Given the description of an element on the screen output the (x, y) to click on. 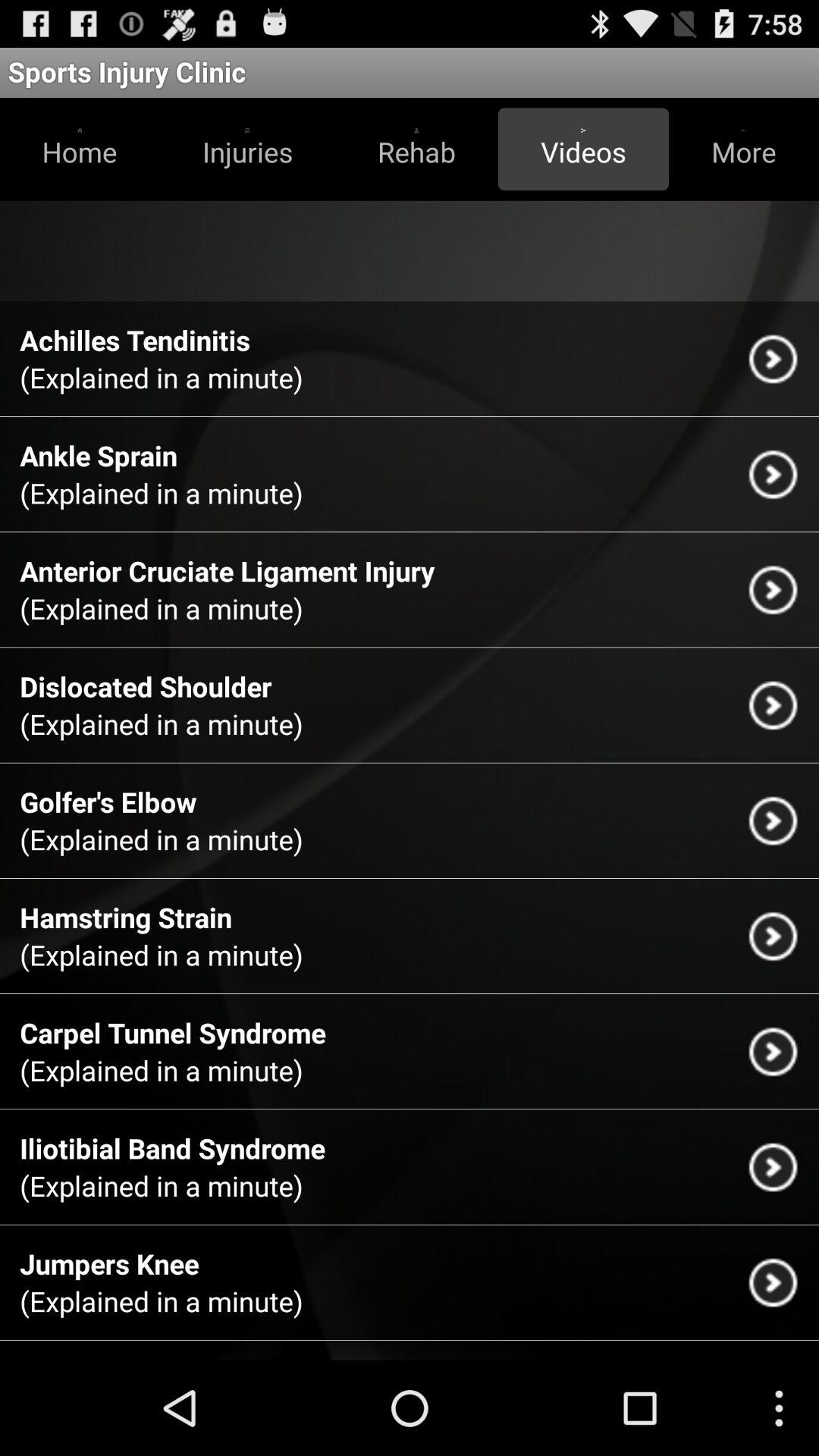
flip to videos item (583, 149)
